Given the description of an element on the screen output the (x, y) to click on. 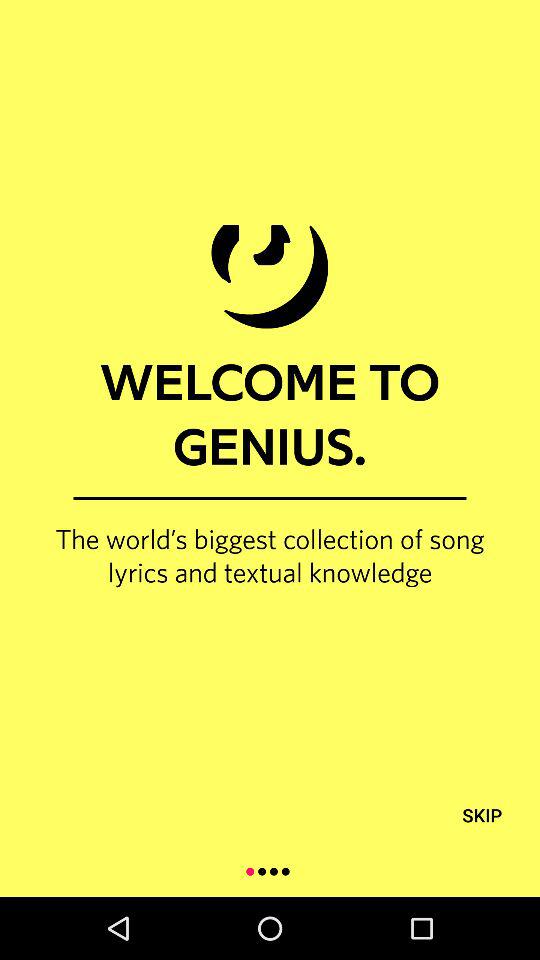
select the skip (482, 814)
